Given the description of an element on the screen output the (x, y) to click on. 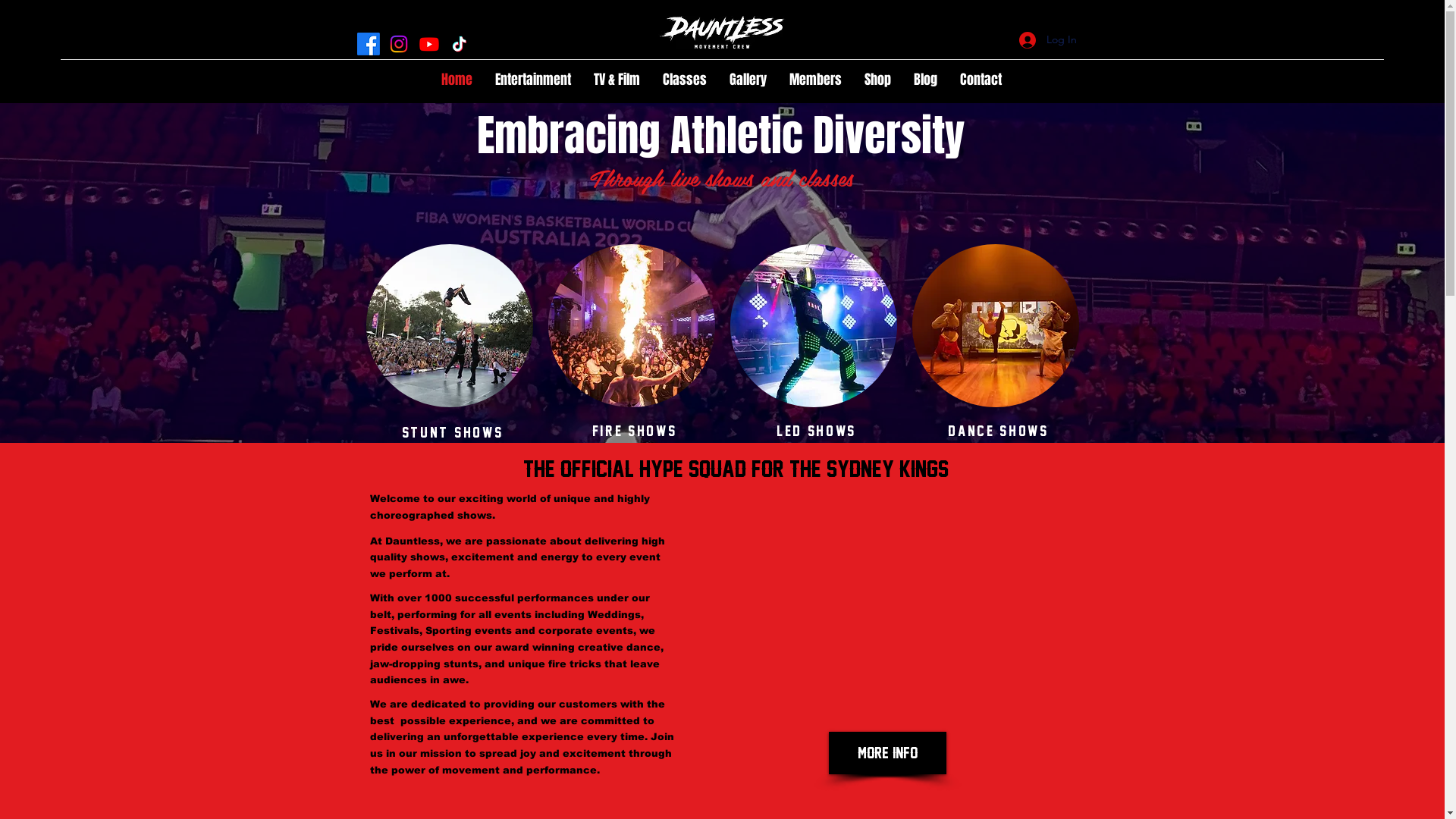
Log In Element type: text (1047, 39)
Contact Element type: text (980, 79)
Shop Element type: text (877, 79)
TV & Film Element type: text (616, 79)
Blog Element type: text (925, 79)
Classes Element type: text (684, 79)
Home Element type: text (456, 79)
more info Element type: text (886, 752)
Gallery Element type: text (748, 79)
Entertainment Element type: text (532, 79)
Members Element type: text (815, 79)
